Given the description of an element on the screen output the (x, y) to click on. 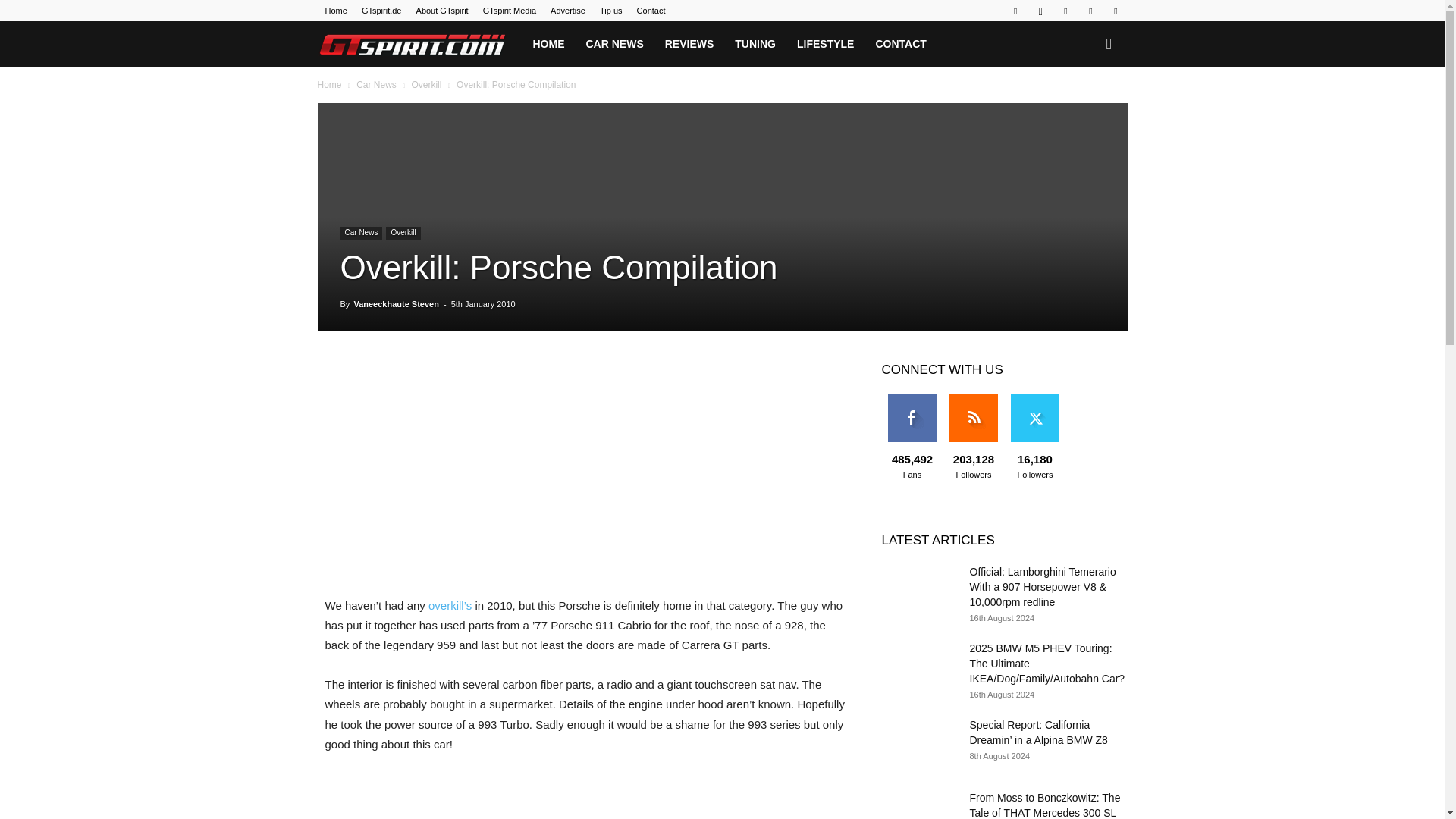
View all posts in Overkill (425, 84)
HOME (548, 43)
CAR NEWS (614, 43)
View all posts in Car News (376, 84)
Tip us (611, 10)
Advertise (567, 10)
Instagram (1040, 10)
GTspirit Media (509, 10)
Twitter (1090, 10)
Contact (651, 10)
